Given the description of an element on the screen output the (x, y) to click on. 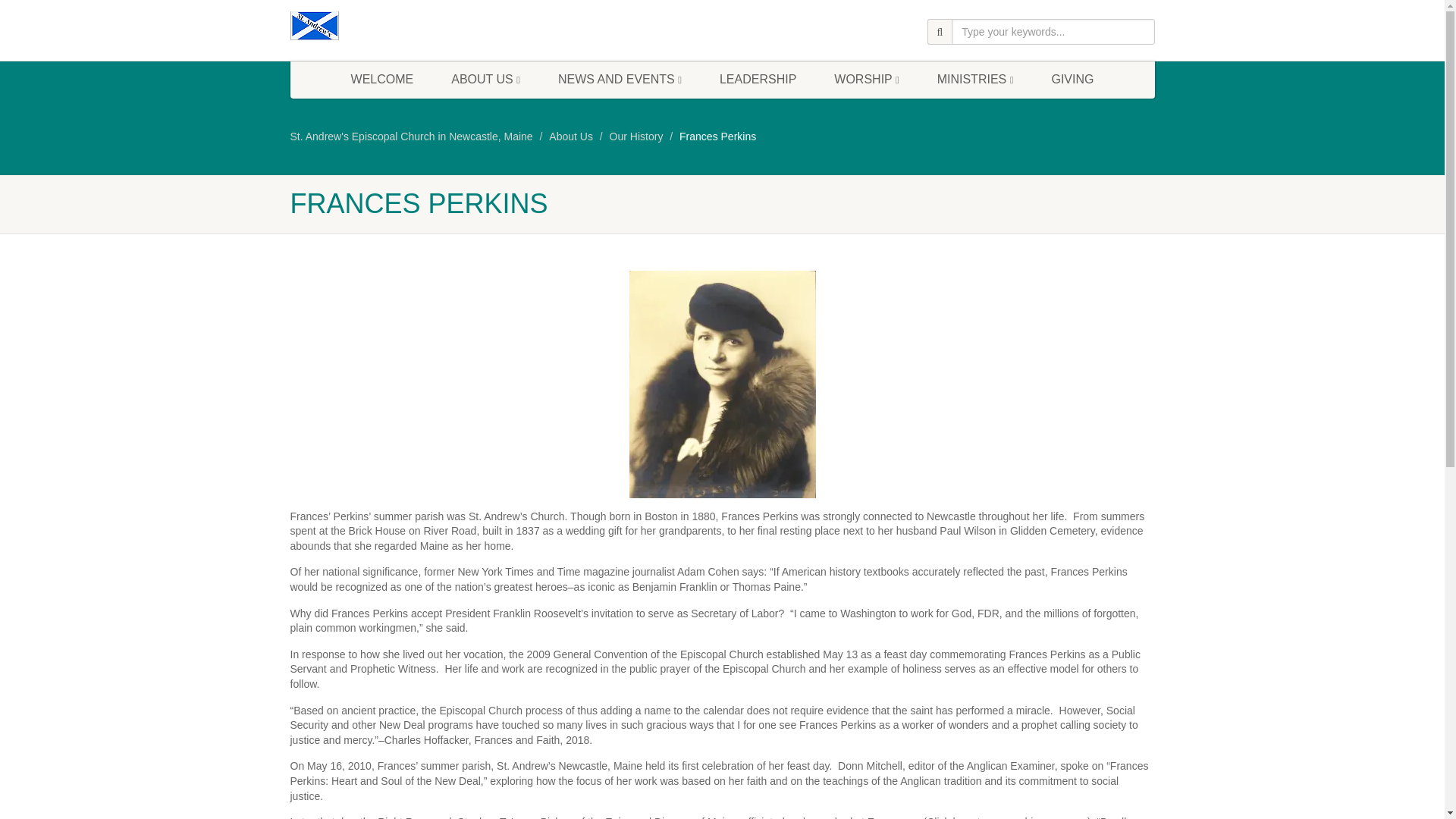
Go to St. Andrew's Episcopal Church in Newcastle, Maine. (410, 136)
NEWS AND EVENTS (619, 79)
WORSHIP (866, 79)
Go to About Us. (570, 136)
MINISTRIES (975, 79)
ABOUT US (485, 79)
St. Andrew's Episcopal Church (425, 25)
Go to Our History. (636, 136)
WELCOME (381, 79)
LEADERSHIP (757, 79)
